Given the description of an element on the screen output the (x, y) to click on. 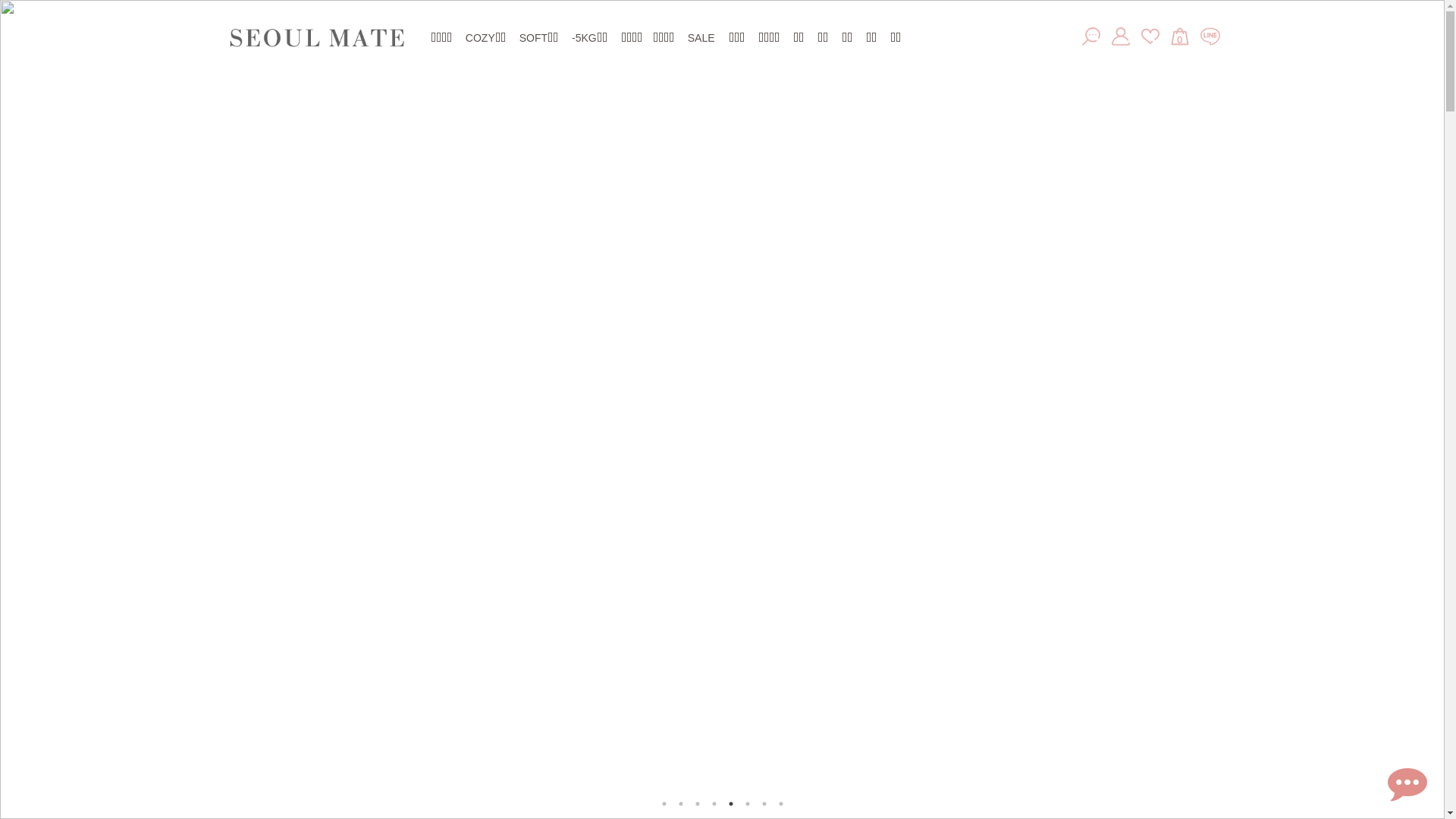
1 Element type: text (663, 803)
0 Element type: text (1179, 37)
5 Element type: text (730, 803)
3 Element type: text (697, 803)
2 Element type: text (680, 803)
4 Element type: text (713, 803)
8 Element type: text (780, 803)
6 Element type: text (747, 803)
SALE Element type: text (701, 38)
7 Element type: text (763, 803)
